Given the description of an element on the screen output the (x, y) to click on. 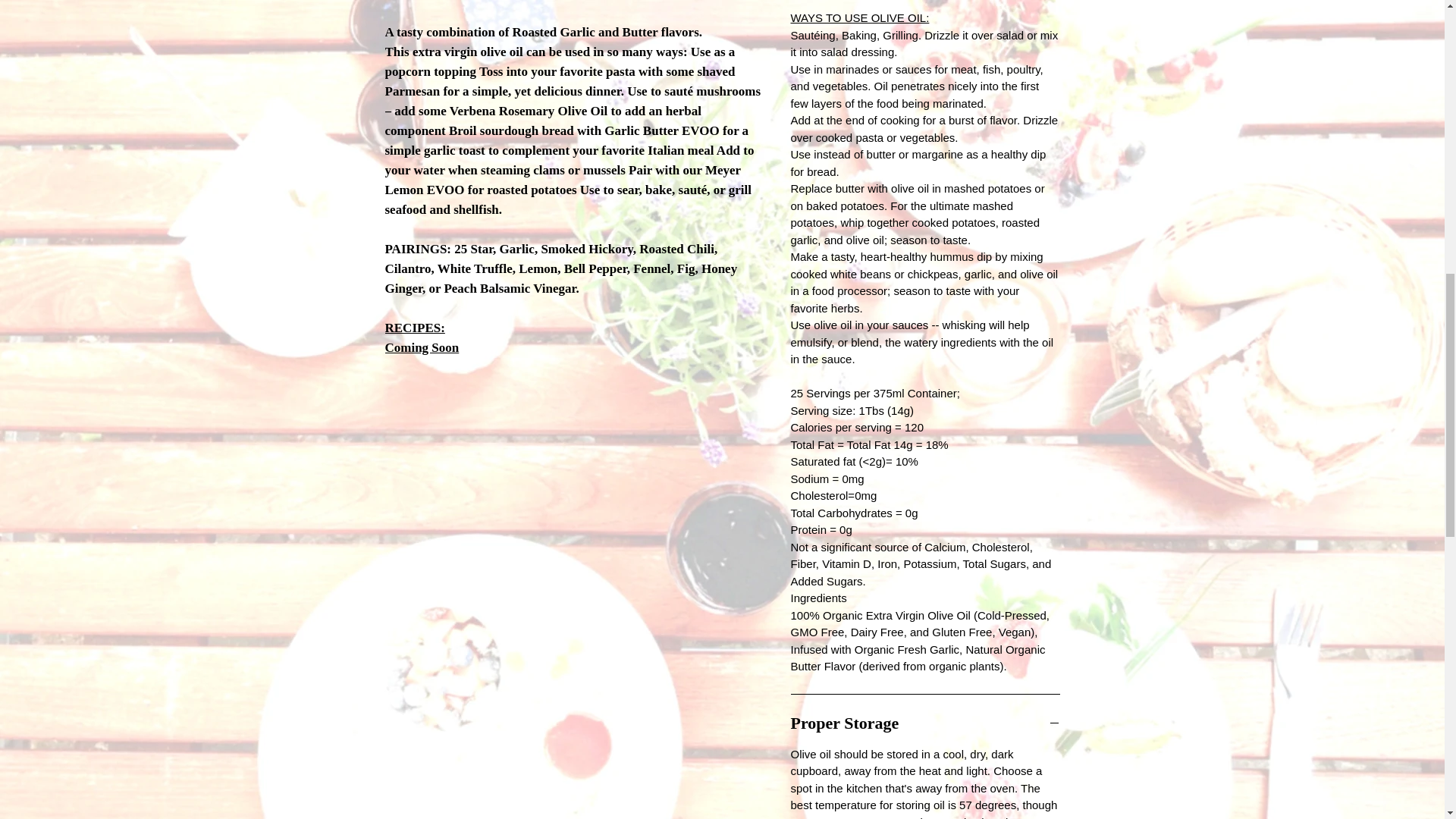
Proper Storage (924, 722)
